Given the description of an element on the screen output the (x, y) to click on. 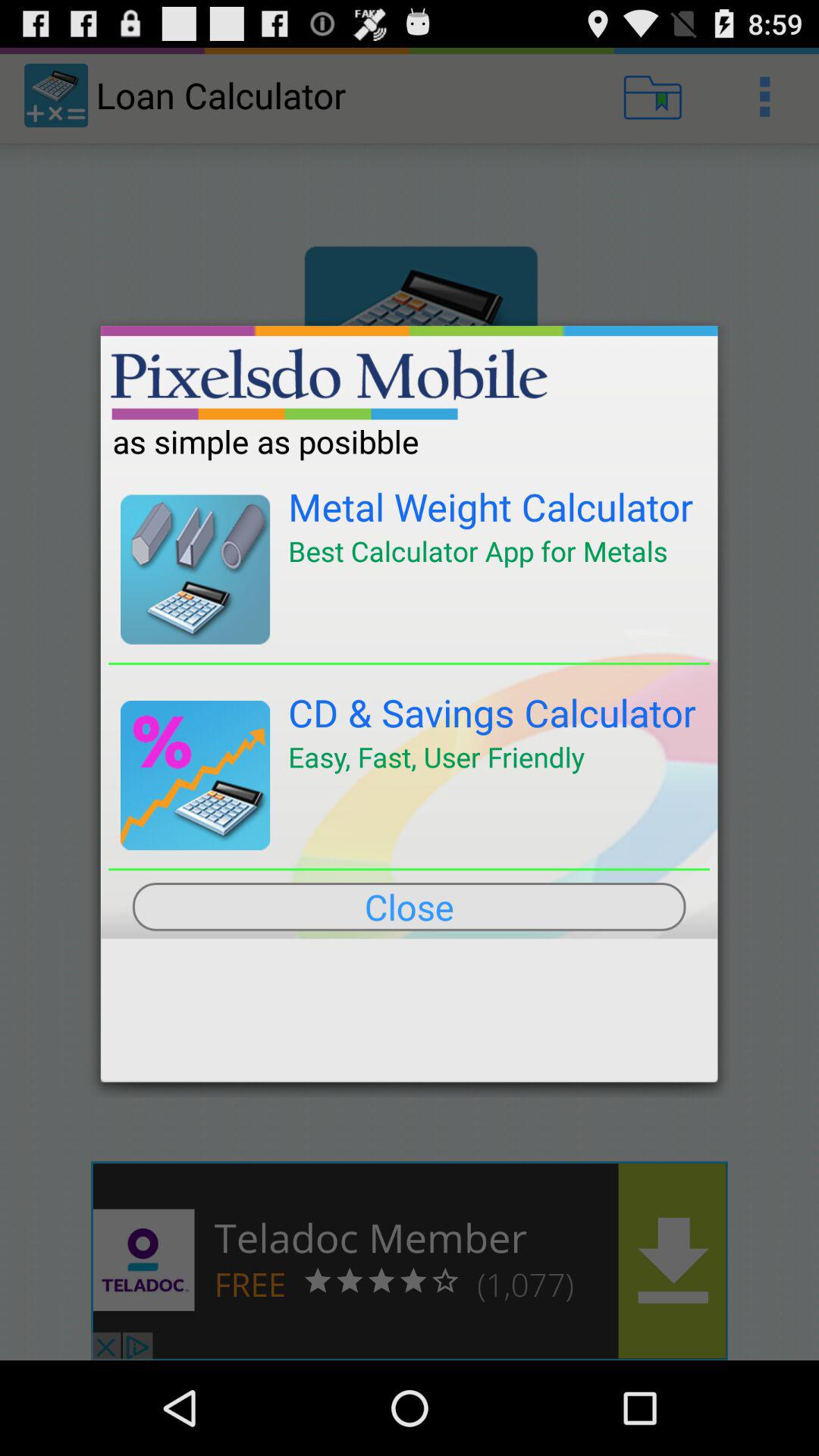
choose item above the best calculator app item (490, 506)
